Given the description of an element on the screen output the (x, y) to click on. 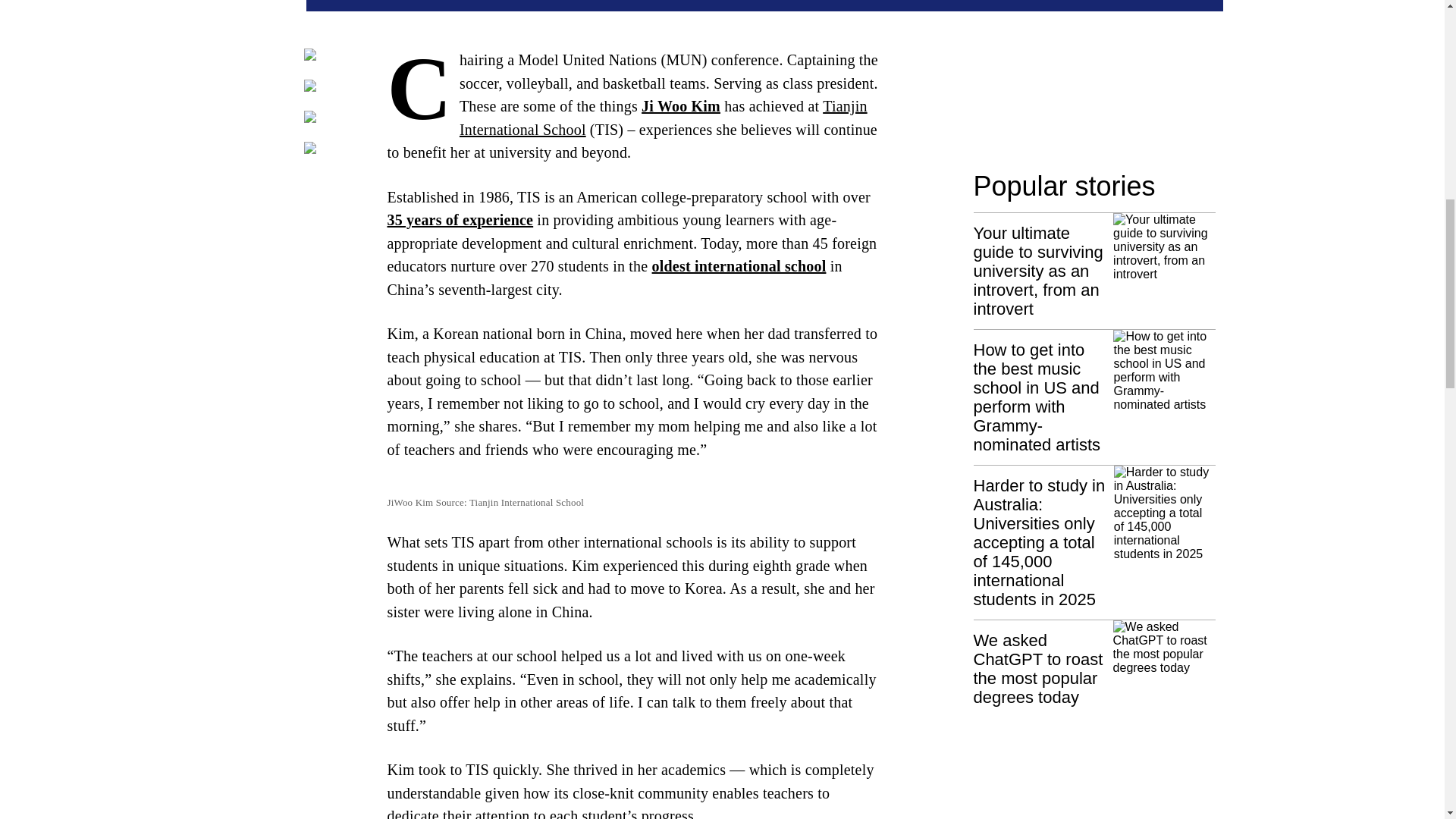
oldest international school (739, 265)
Ji Woo Kim (681, 105)
35 years of experience (459, 219)
Tianjin International School (663, 117)
